Given the description of an element on the screen output the (x, y) to click on. 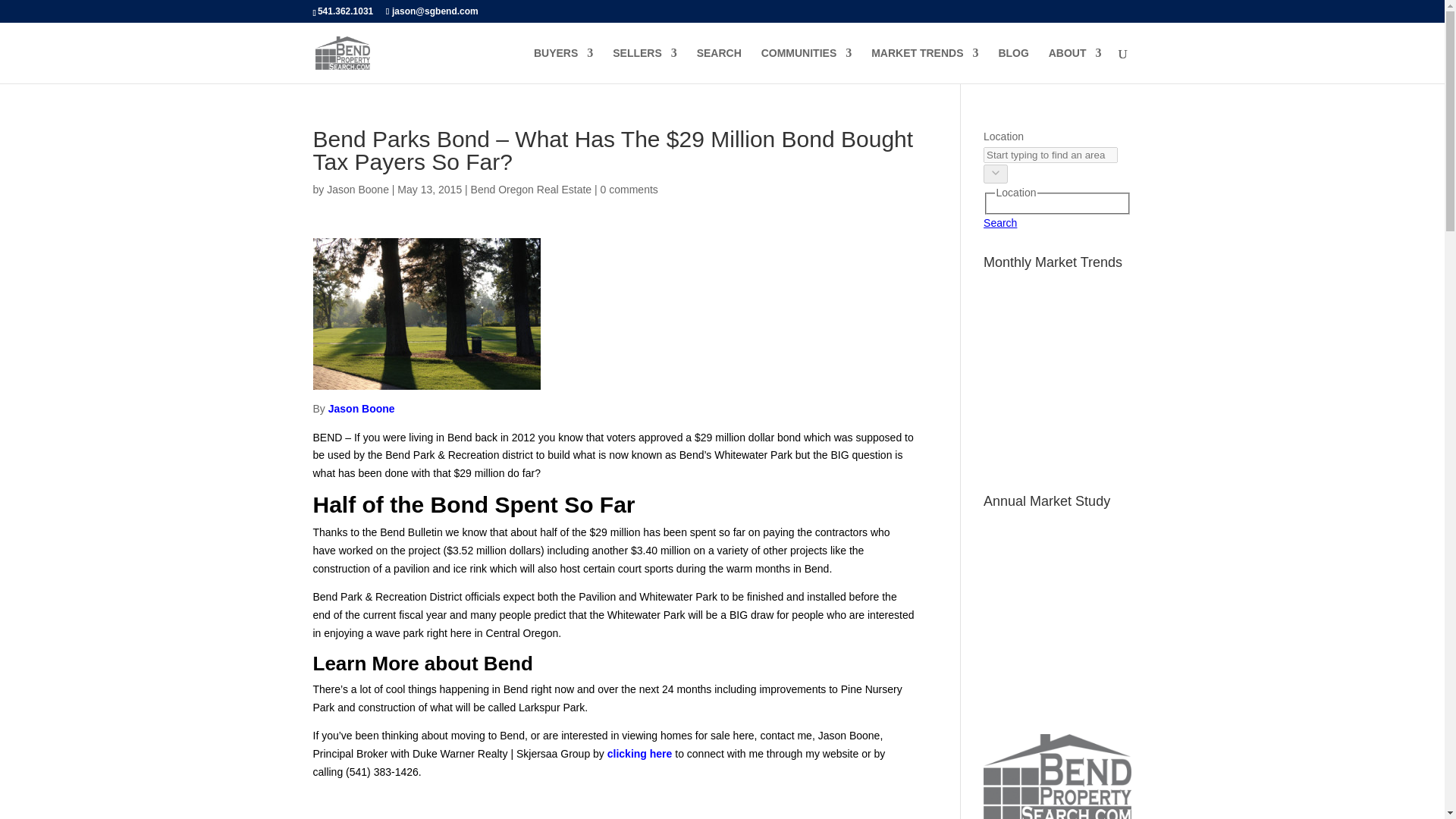
SEARCH (719, 65)
Posts by Jason Boone (357, 189)
Bend Oregon Real Estate (531, 189)
MARKET TRENDS (924, 65)
ABOUT (1075, 65)
clicking here (641, 753)
Jason Boone (361, 408)
Jason Boone (357, 189)
BUYERS (563, 65)
COMMUNITIES (806, 65)
